Given the description of an element on the screen output the (x, y) to click on. 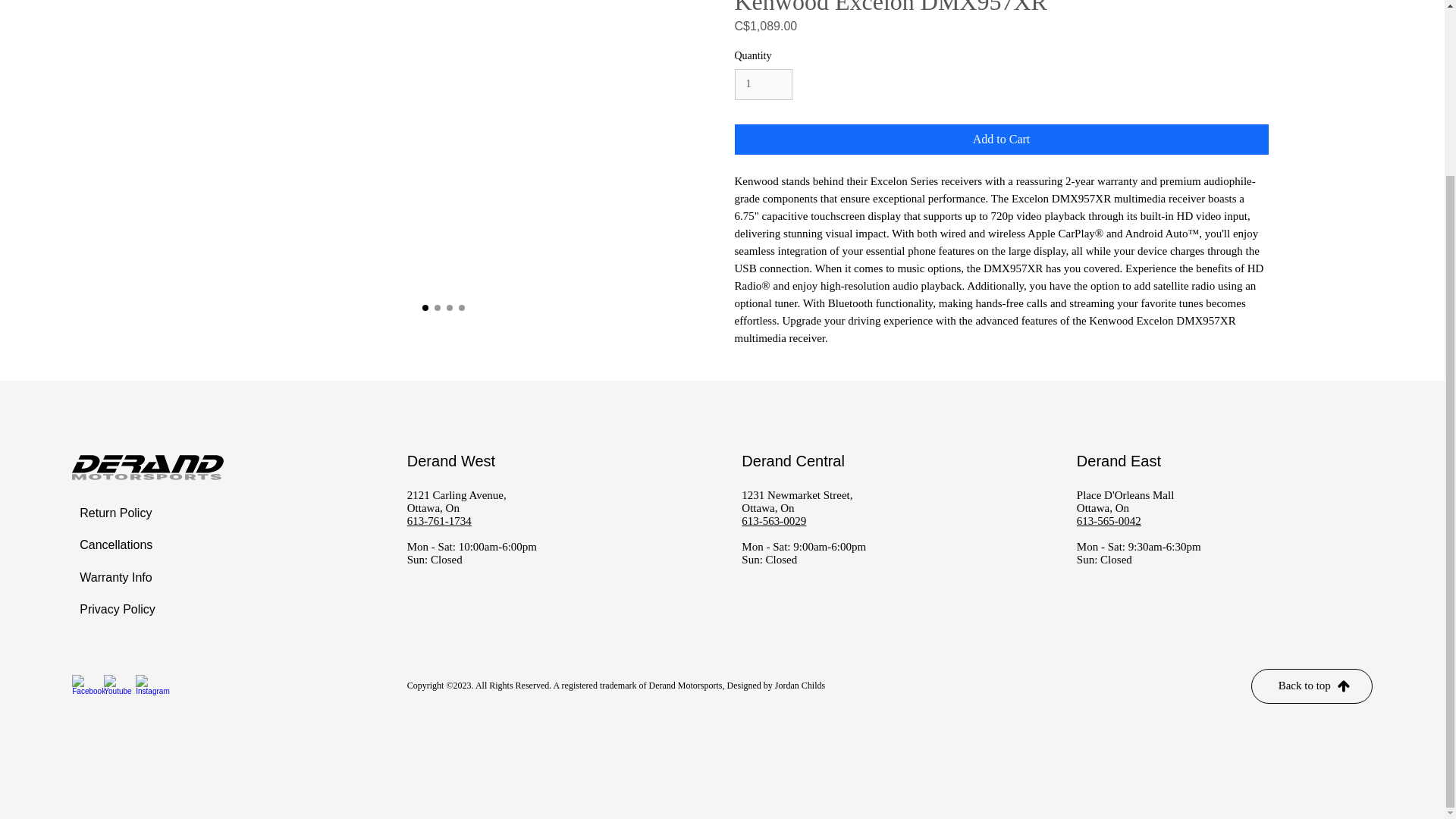
Privacy Policy (125, 609)
613-565-0042 (1109, 521)
Warranty Info (125, 577)
1 (762, 83)
613-761-1734 (439, 521)
Add to Cart (1000, 139)
Cancellations (125, 545)
Return Policy (125, 513)
Back to top (1311, 686)
